Given the description of an element on the screen output the (x, y) to click on. 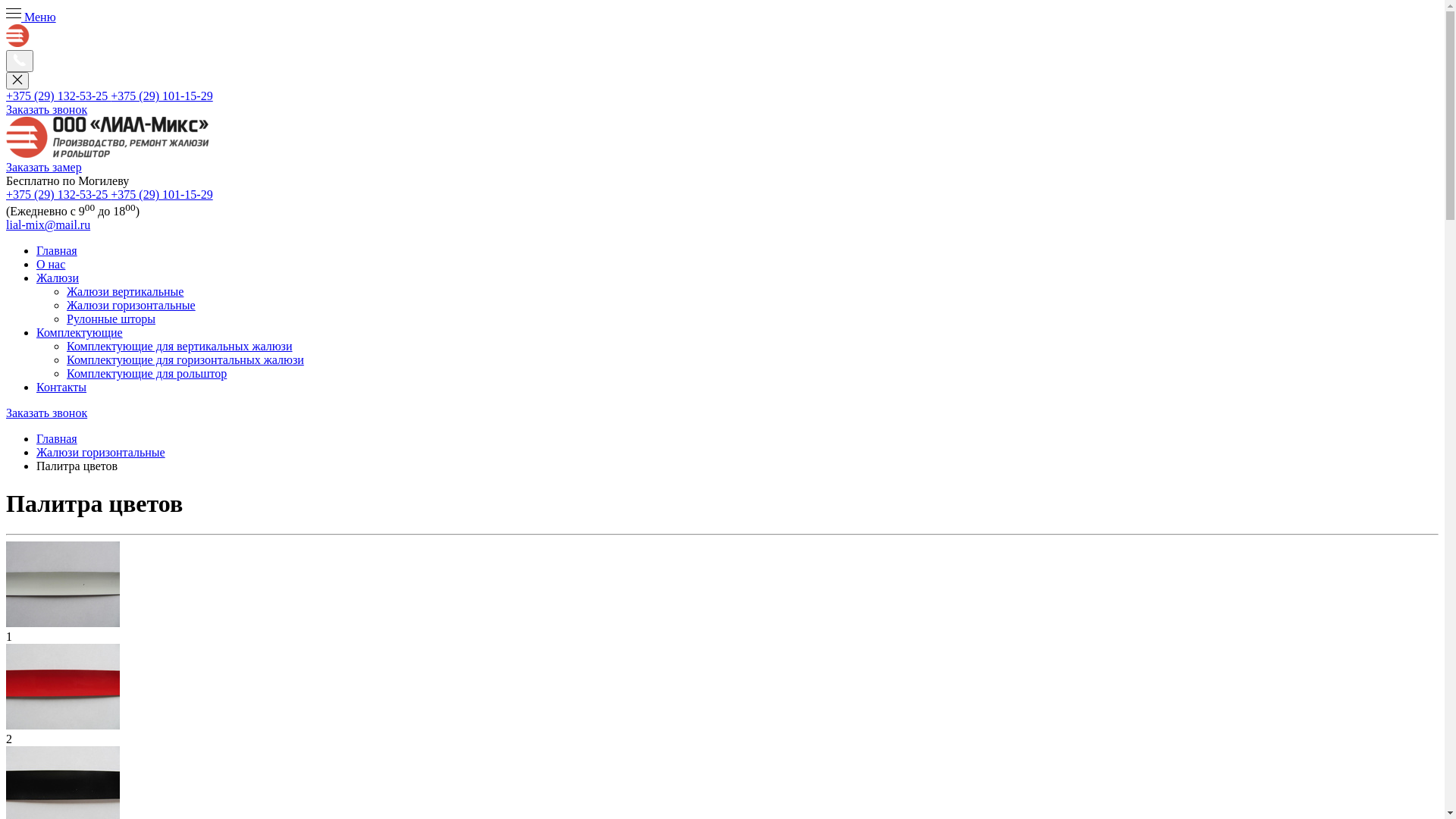
+375 (29) 101-15-29 Element type: text (161, 95)
+375 (29) 101-15-29 Element type: text (161, 194)
+375 (29) 132-53-25 Element type: text (58, 194)
lial-mix@mail.ru Element type: text (48, 224)
+375 (29) 132-53-25 Element type: text (58, 95)
